Given the description of an element on the screen output the (x, y) to click on. 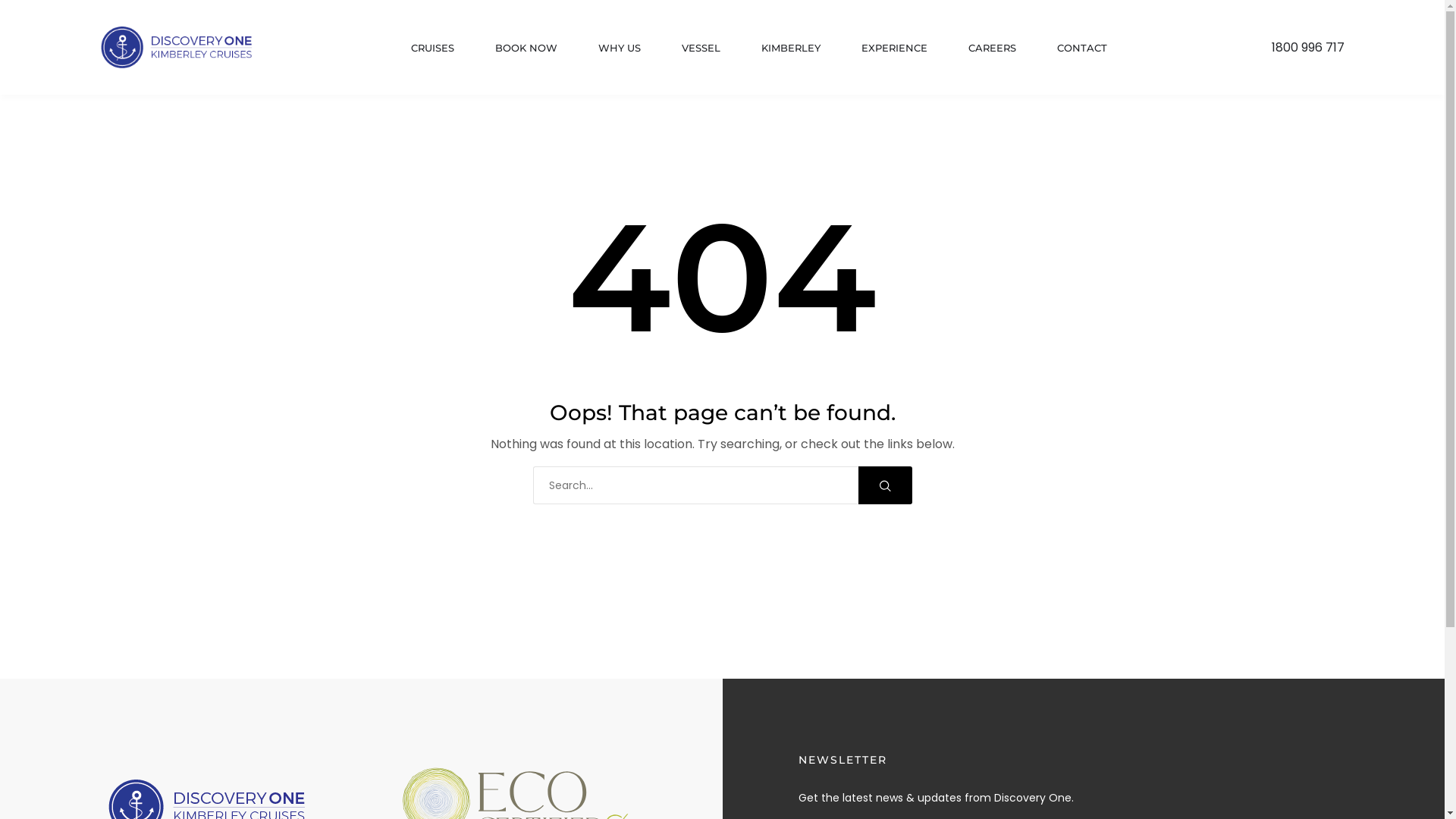
CONTACT Element type: text (1082, 46)
BOOK NOW Element type: text (525, 46)
EXPERIENCE Element type: text (894, 46)
WHY US Element type: text (618, 46)
VESSEL Element type: text (699, 46)
CAREERS Element type: text (991, 46)
CRUISES Element type: text (432, 46)
SEARCH Element type: text (885, 485)
KIMBERLEY Element type: text (790, 46)
